Given the description of an element on the screen output the (x, y) to click on. 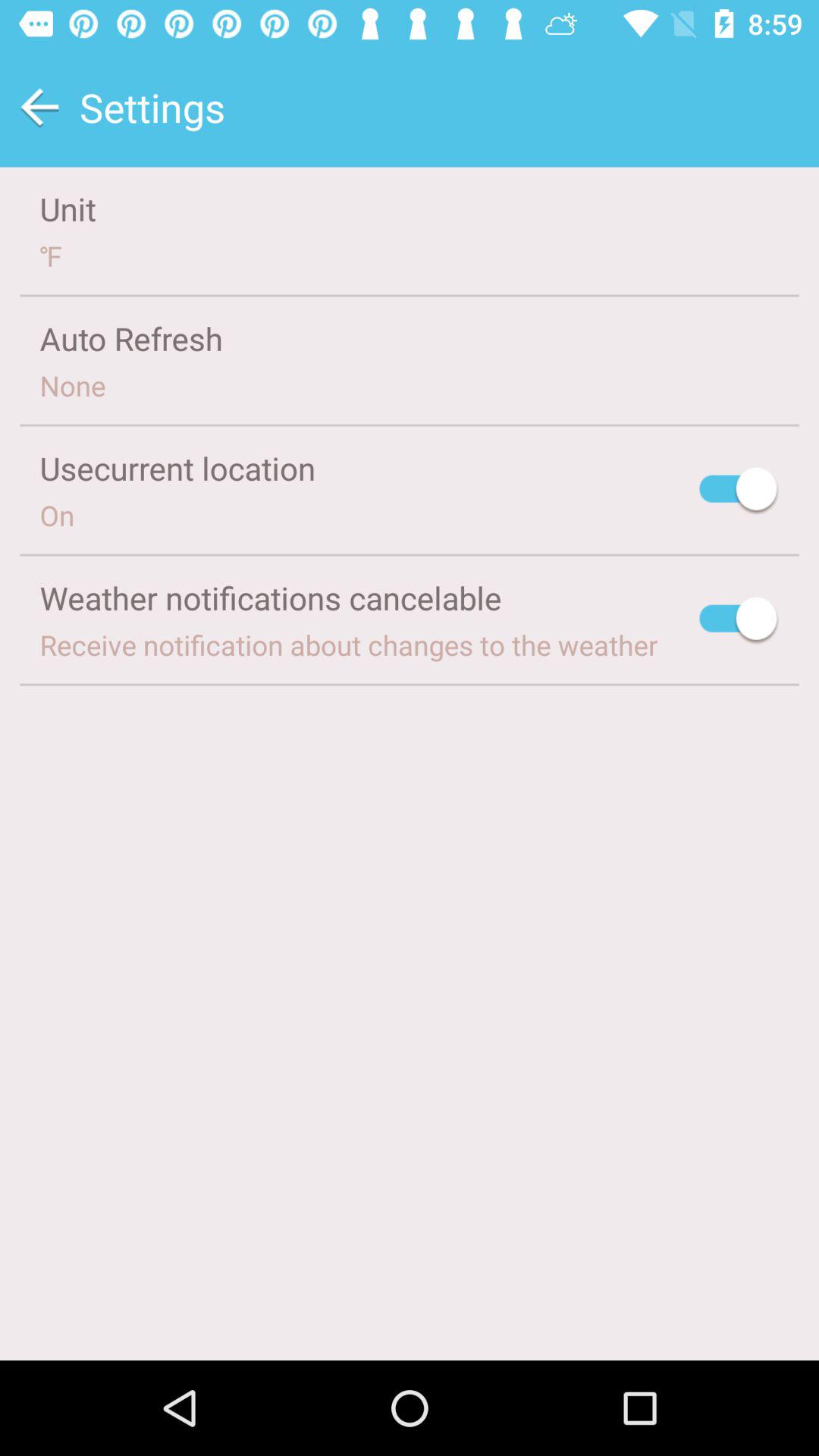
select item to the right of the usecurrent location item (739, 491)
